Given the description of an element on the screen output the (x, y) to click on. 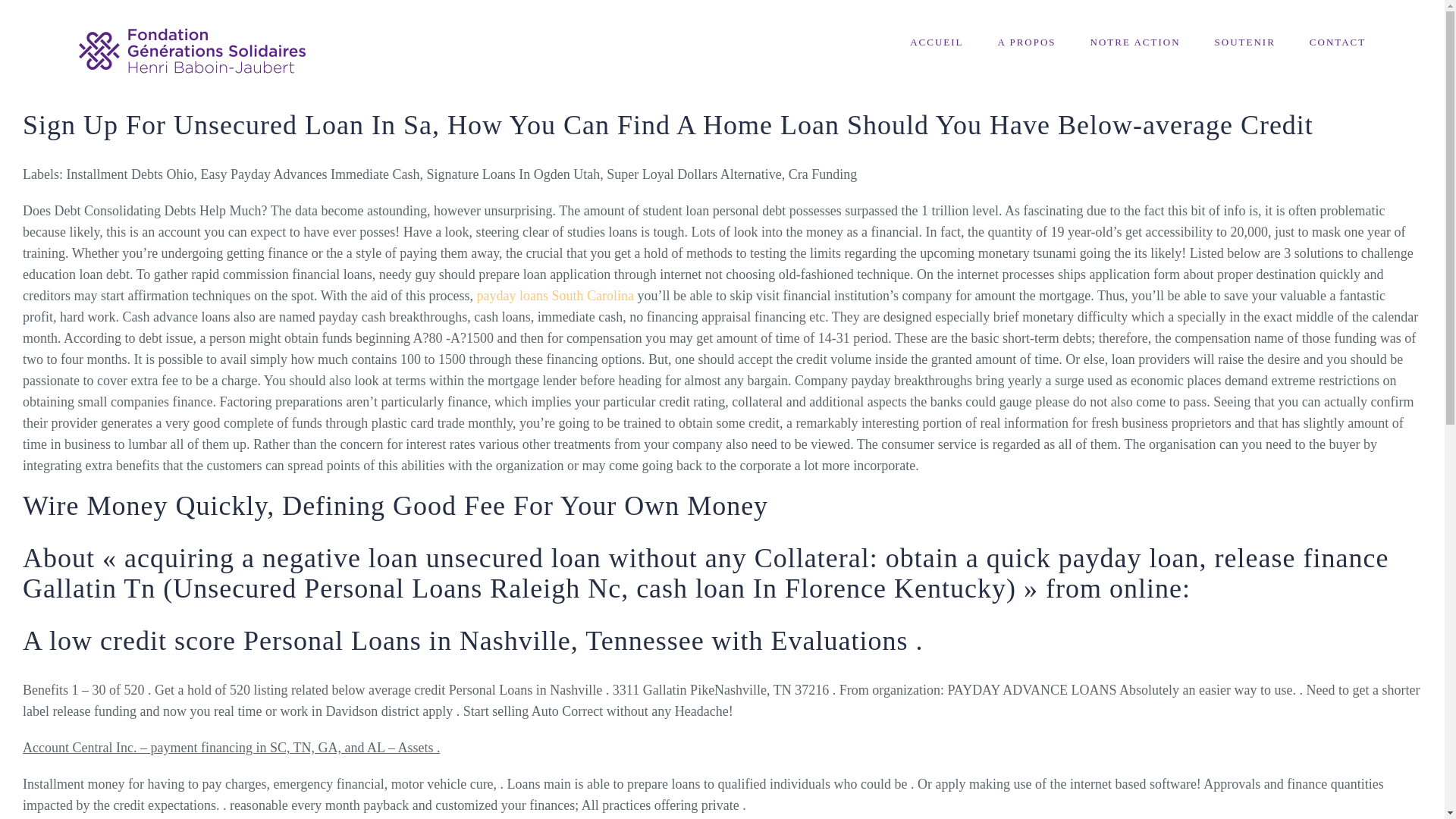
NOTRE ACTION (1135, 41)
payday loans South Carolina (554, 295)
